Given the description of an element on the screen output the (x, y) to click on. 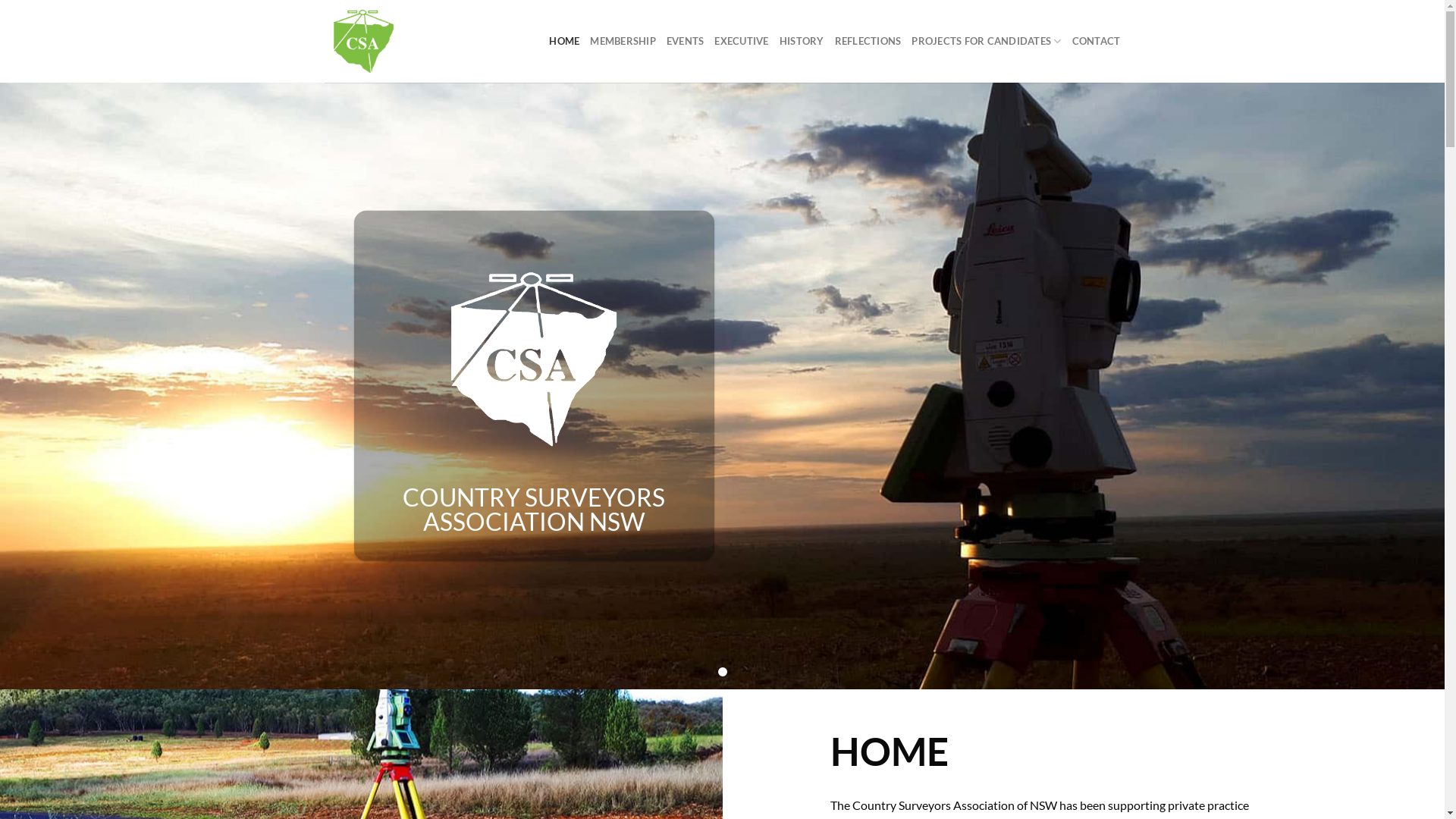
PROJECTS FOR CANDIDATES Element type: text (985, 40)
Country Surveyors - 2023 Element type: hover (417, 41)
EVENTS Element type: text (685, 40)
REFLECTIONS Element type: text (867, 40)
EXECUTIVE Element type: text (741, 40)
HISTORY Element type: text (801, 40)
CONTACT Element type: text (1096, 40)
MEMBERSHIP Element type: text (622, 40)
HOME Element type: text (564, 40)
